Given the description of an element on the screen output the (x, y) to click on. 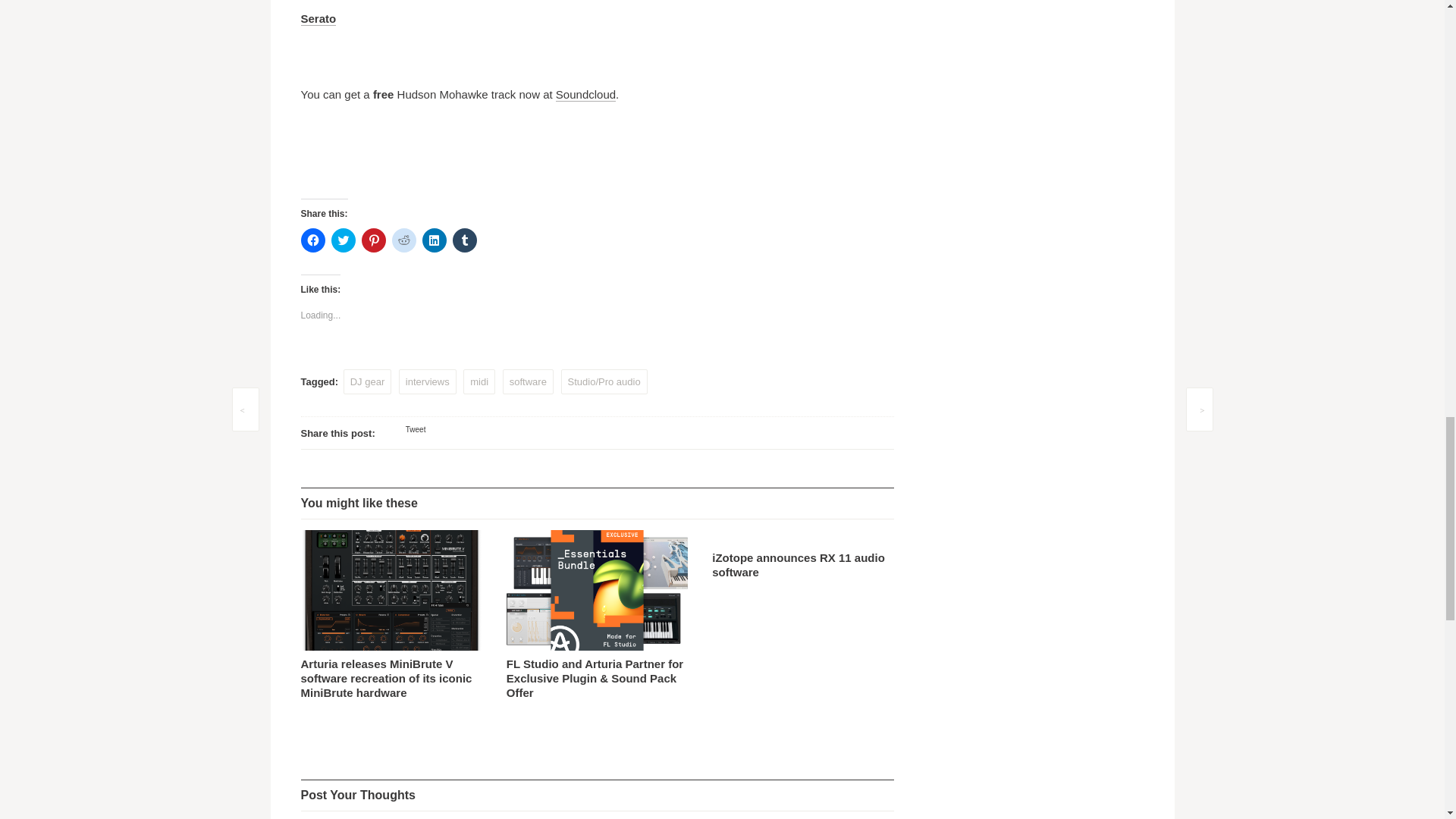
Click to share on Twitter (342, 240)
Serato (317, 18)
Soundcloud (585, 94)
Click to share on LinkedIn (433, 240)
Click to share on Facebook (311, 240)
serato.com (317, 18)
Click to share on Tumblr (463, 240)
free track hudson mohawke (585, 94)
Click to share on Reddit (402, 240)
Click to share on Pinterest (373, 240)
